Given the description of an element on the screen output the (x, y) to click on. 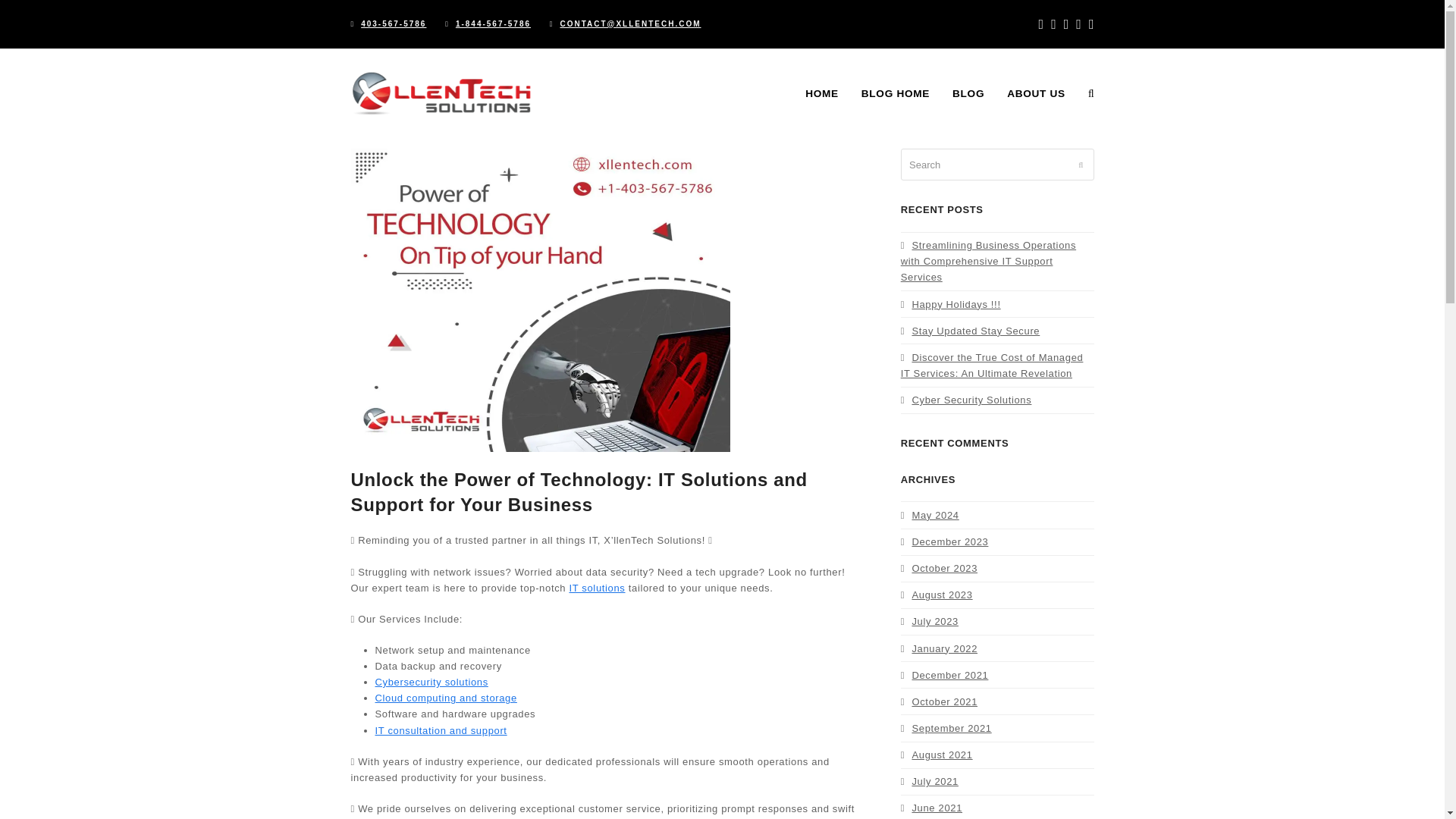
Twitter (1054, 23)
BLOG HOME (895, 94)
IT consultation and support (440, 730)
Cloud computing and storage (445, 697)
IT solutions (596, 587)
Instagram (1066, 23)
Facebook (1041, 23)
Cybersecurity solutions (430, 681)
ABOUT US (1036, 94)
BLOG (967, 94)
Enlarge Image (539, 299)
HOME (821, 94)
Whatsapp (1091, 23)
403-567-5786 (393, 23)
LinkedIn (1078, 23)
